Given the description of an element on the screen output the (x, y) to click on. 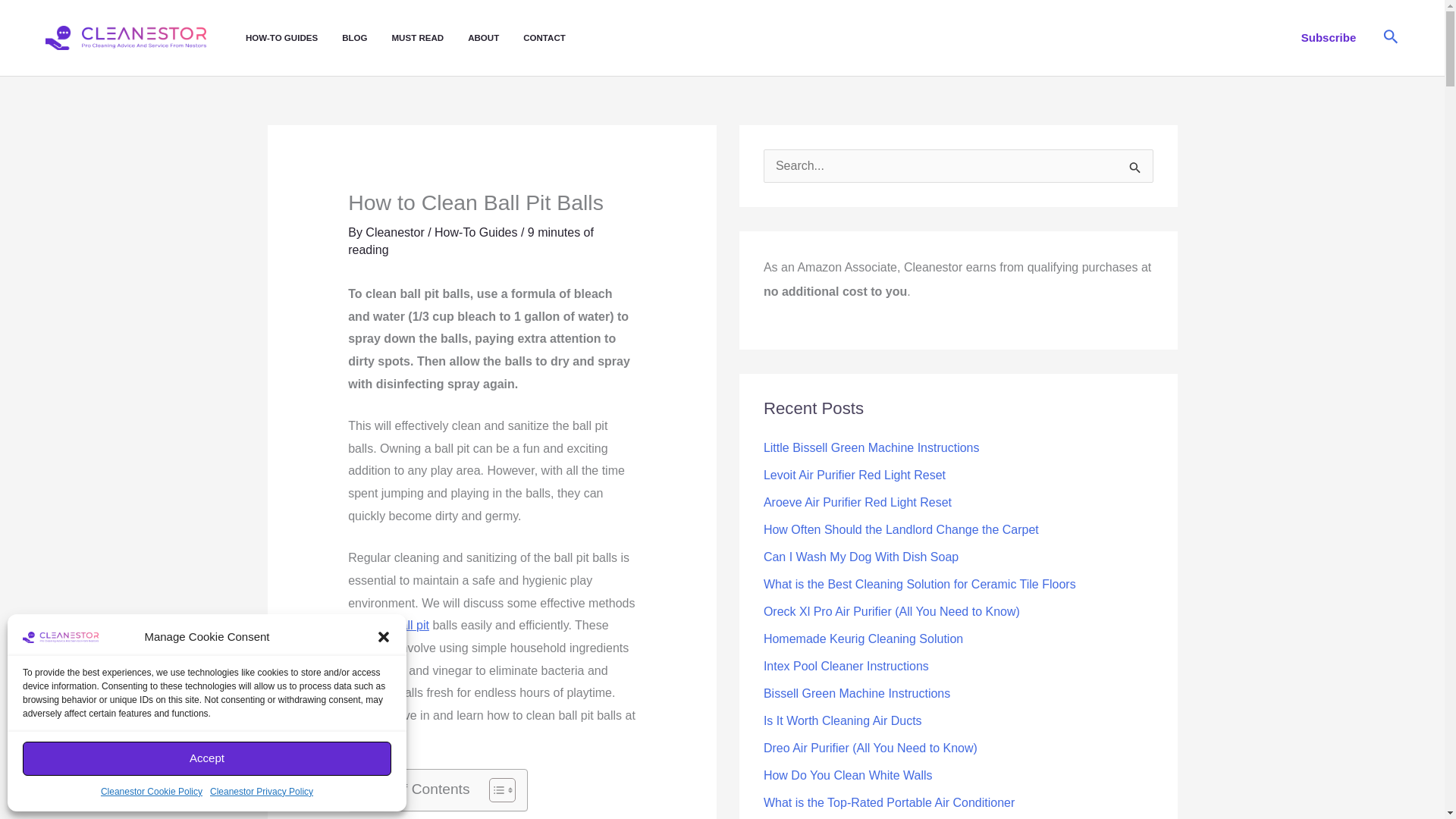
HOW-TO GUIDES (294, 38)
View all posts by Cleanestor (396, 232)
home (362, 738)
Accept (207, 758)
Cleanestor Cookie Policy (151, 791)
How-To Guides (474, 232)
clean ball pit (395, 625)
Cleanestor Privacy Policy (261, 791)
MUST READ (429, 38)
home (362, 738)
clean ball pit (395, 625)
Cleanestor (396, 232)
Subscribe (1328, 37)
